Given the description of an element on the screen output the (x, y) to click on. 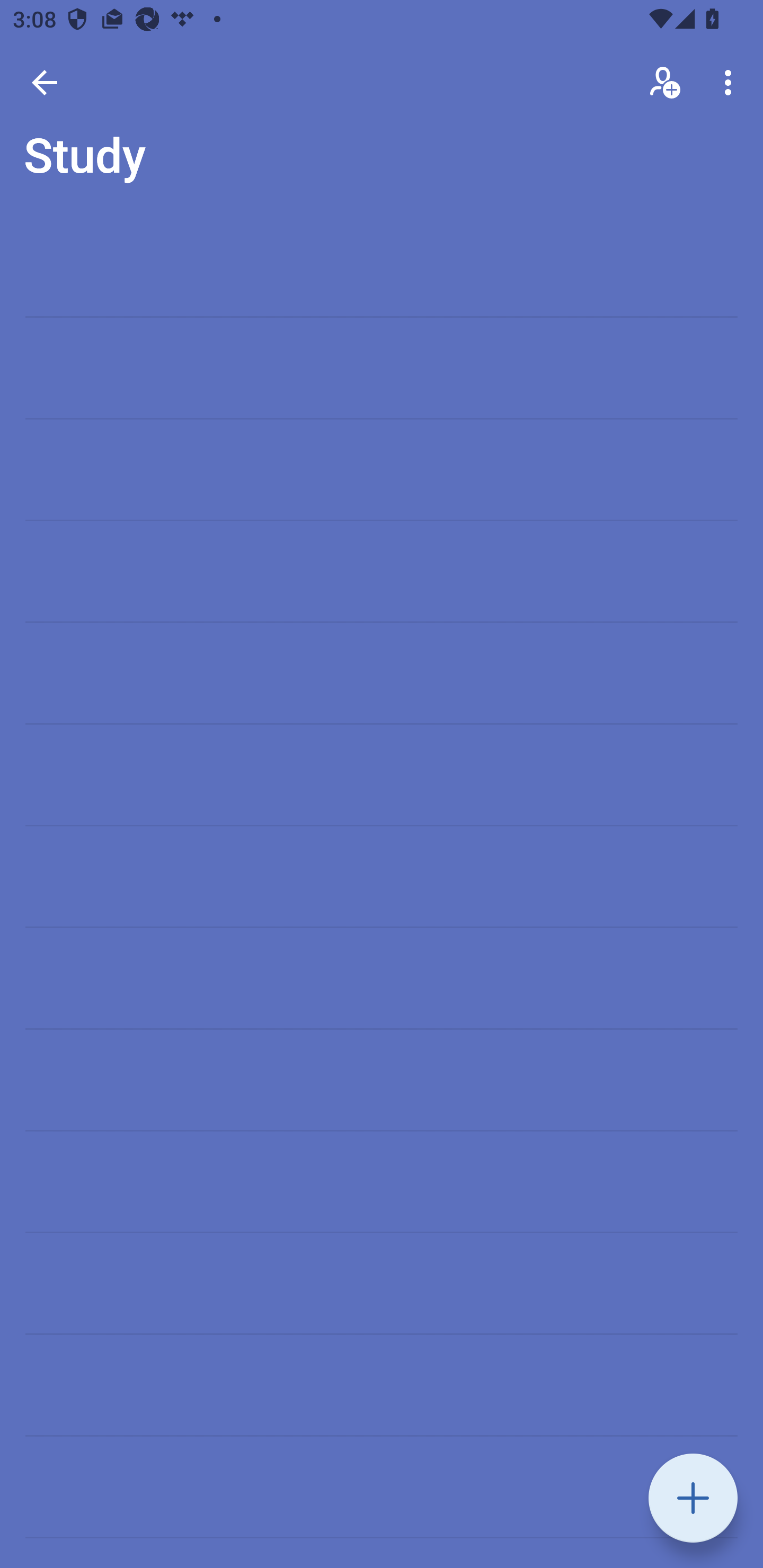
Add a task (692, 1497)
